Given the description of an element on the screen output the (x, y) to click on. 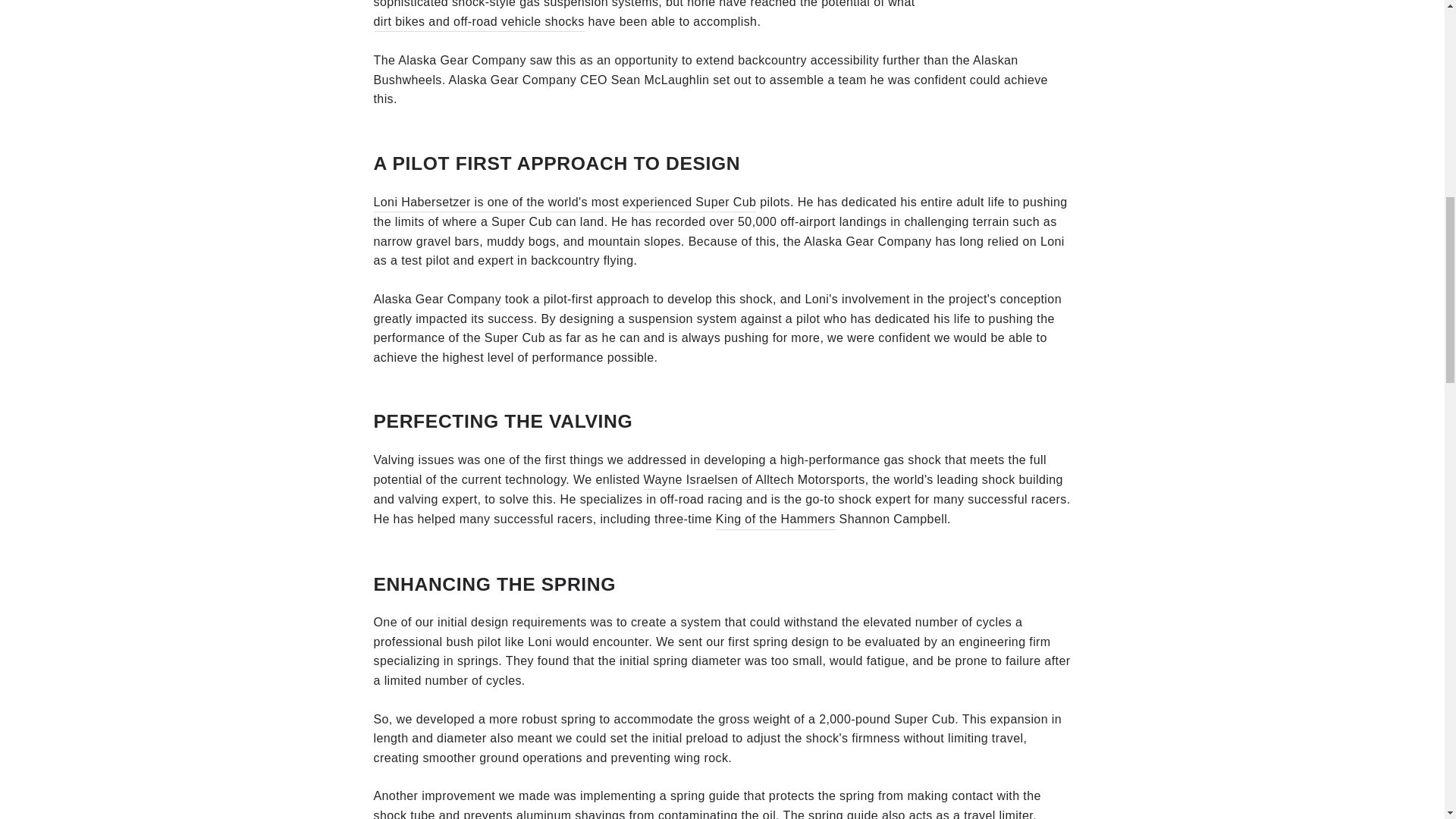
Wayne Israelsen: Alltech Motorsports (753, 480)
King Of The Hammers (775, 519)
Loni Habersetzer - Cubdriver: No Second Chances (563, 202)
